Given the description of an element on the screen output the (x, y) to click on. 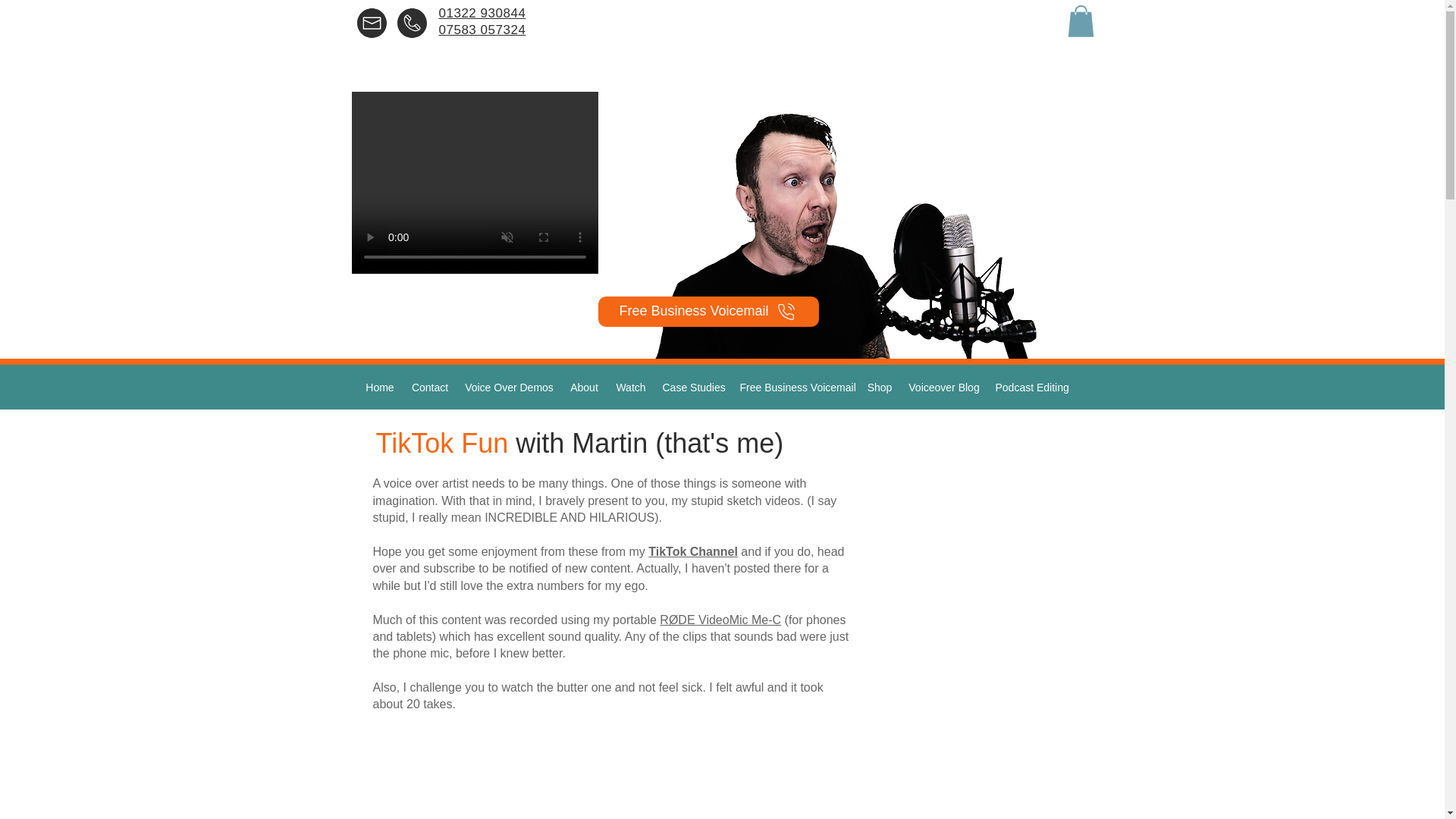
About (583, 387)
07583 057324 (481, 38)
TikTok Channel (692, 551)
Contact (430, 387)
Free Business Voicemail (795, 387)
Voiceover Blog (944, 387)
Watch (630, 387)
Voice Over Demos (508, 387)
Podcast Editing (1030, 387)
Shop (879, 387)
